Given the description of an element on the screen output the (x, y) to click on. 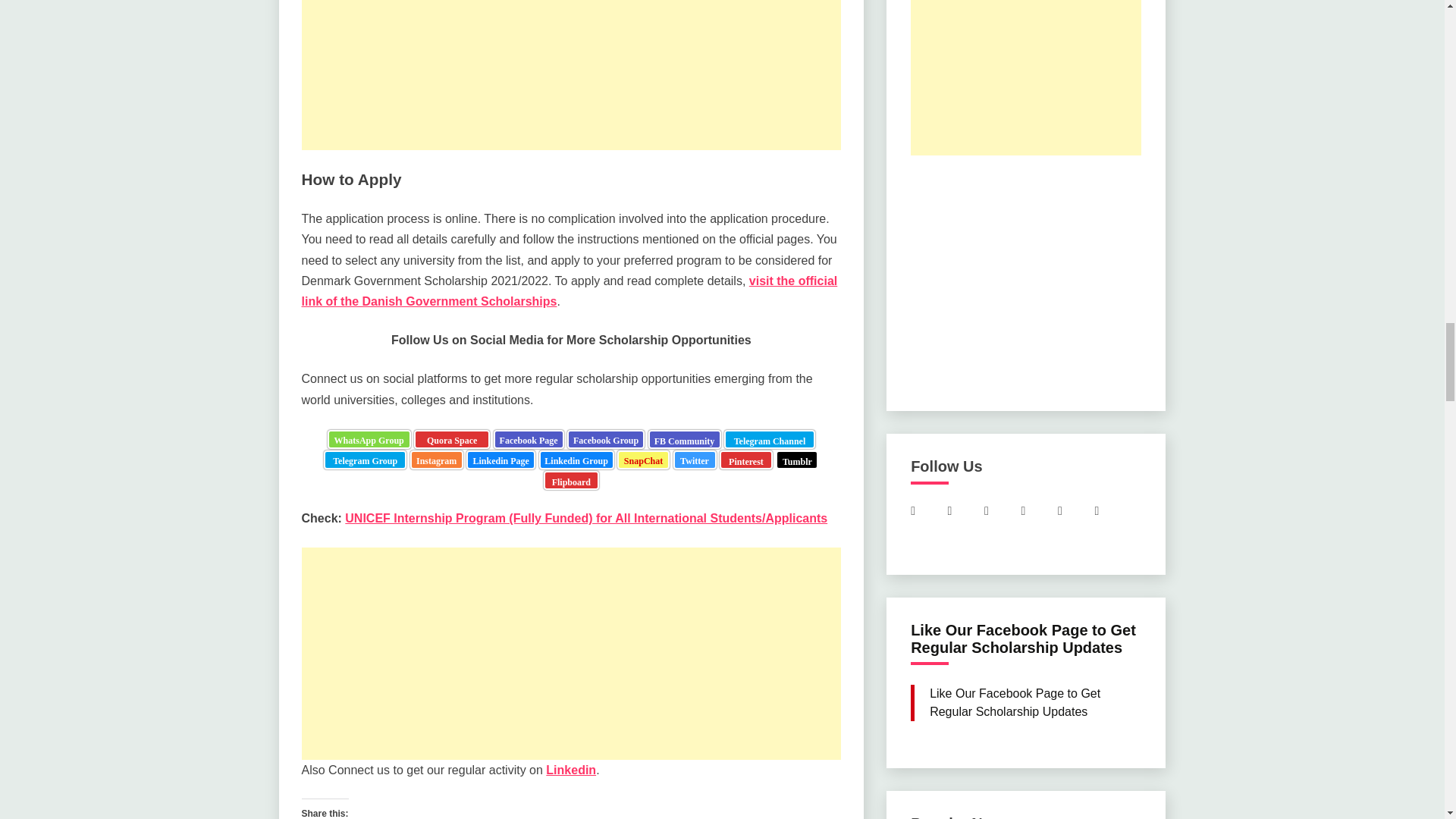
Get Regular Scholarships and More (364, 459)
Follow Us on Twitter (694, 459)
One Stop for Scholarships (368, 438)
Quora Space (451, 438)
Join Us on Pinterest (746, 459)
Fully Funded Scholarship (451, 438)
Ocean of Scholarships, Visa Guidance and Much More (769, 438)
Like Our Facebook Page for Scholarship Updates (528, 438)
WhatsApp Group (368, 438)
Get Regular Scholarship Updates (606, 438)
Follow Us on Tumblr (797, 459)
Wide Range of Scholarships (436, 459)
Get Fully Funded Foreign Scholarships (683, 438)
